Given the description of an element on the screen output the (x, y) to click on. 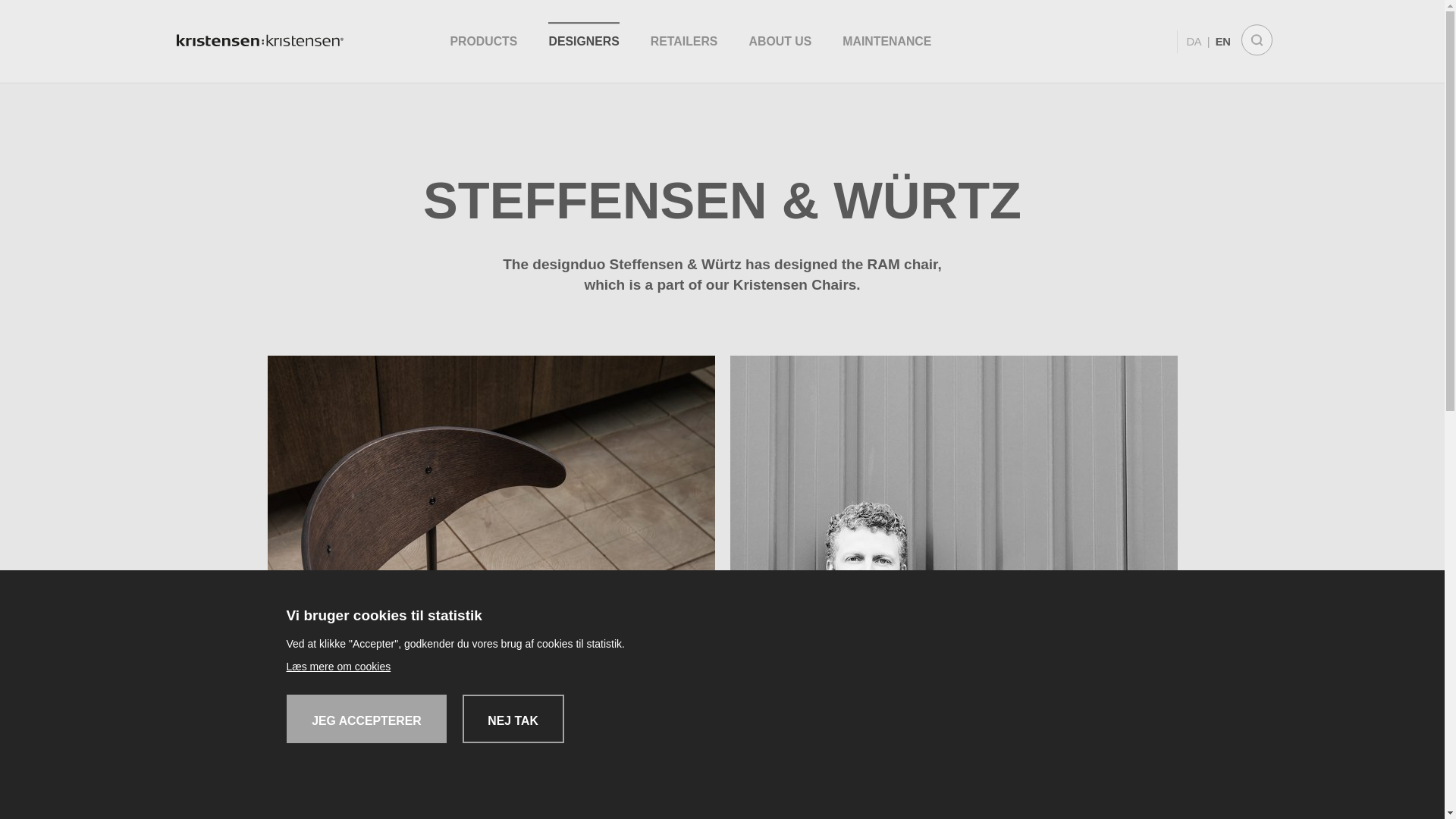
PRODUCTS (482, 40)
MAINTENANCE (887, 40)
JEG ACCEPTERER (366, 718)
ABOUT US (780, 40)
Search (1255, 40)
RETAILERS (683, 40)
DESIGNERS (583, 40)
NEJ TAK (513, 718)
